Given the description of an element on the screen output the (x, y) to click on. 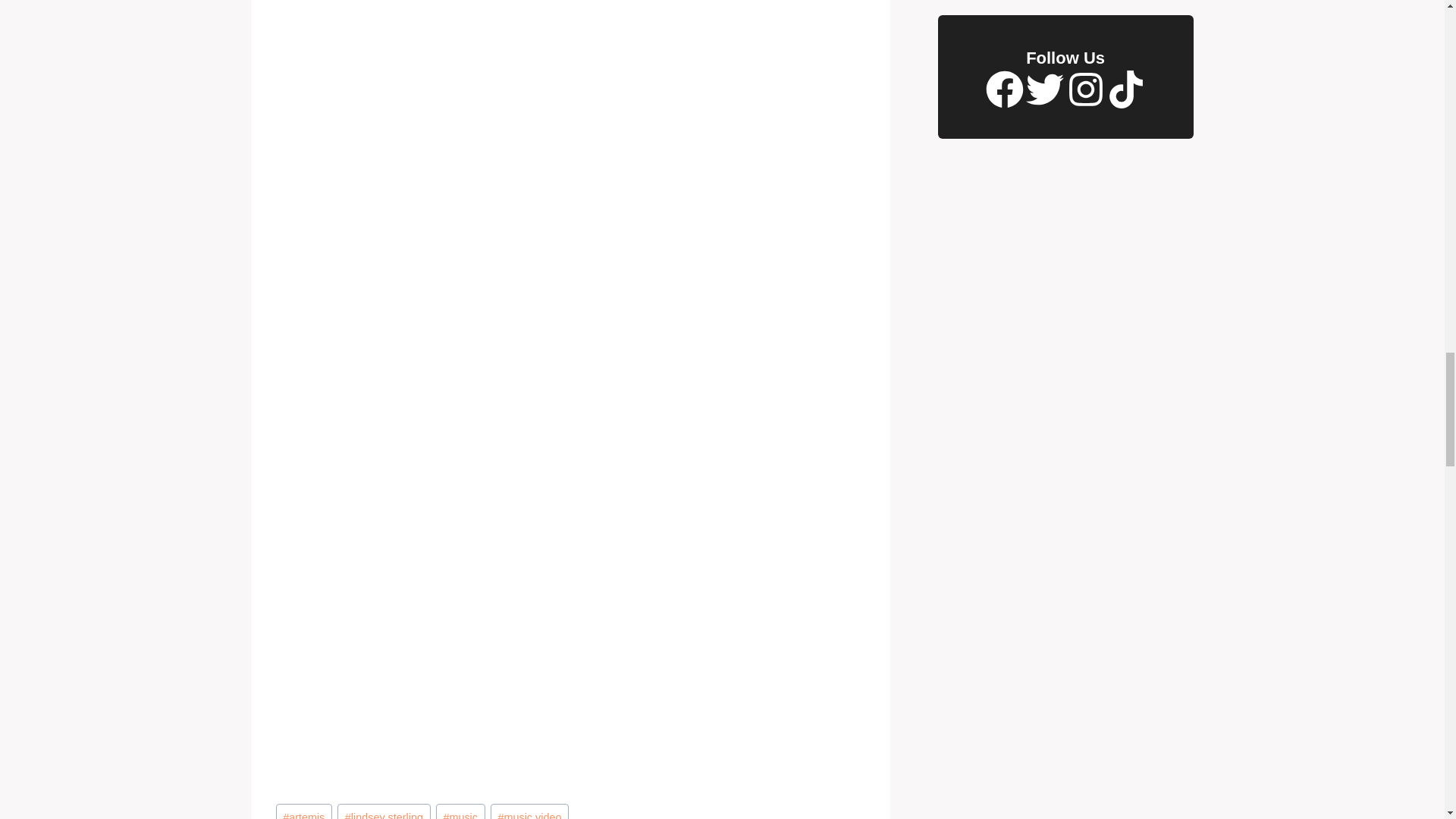
music video (529, 811)
artemis (303, 811)
lindsey sterling (383, 811)
music (459, 811)
